Given the description of an element on the screen output the (x, y) to click on. 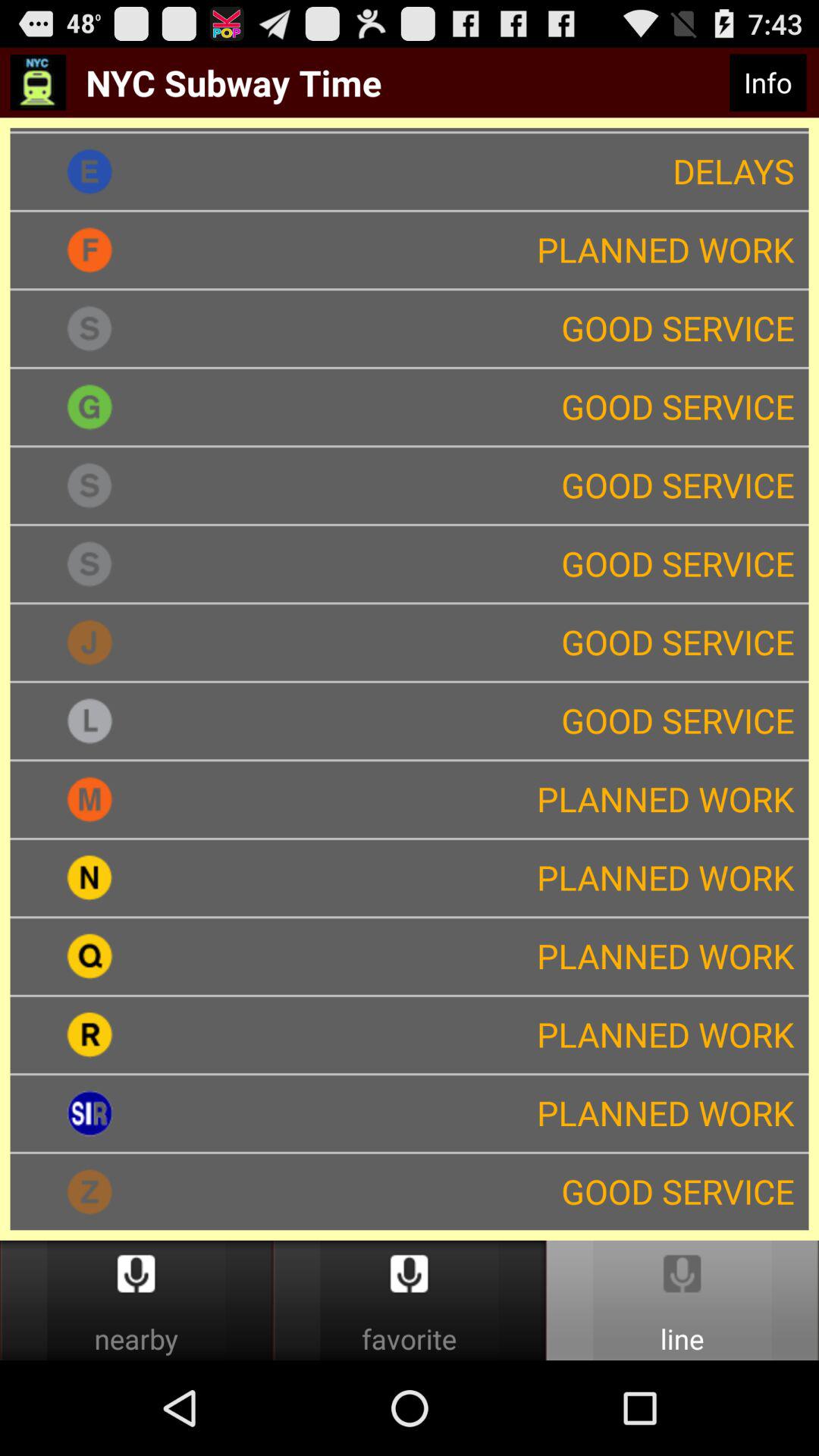
launch app to the right of nyc subway time app (767, 82)
